Given the description of an element on the screen output the (x, y) to click on. 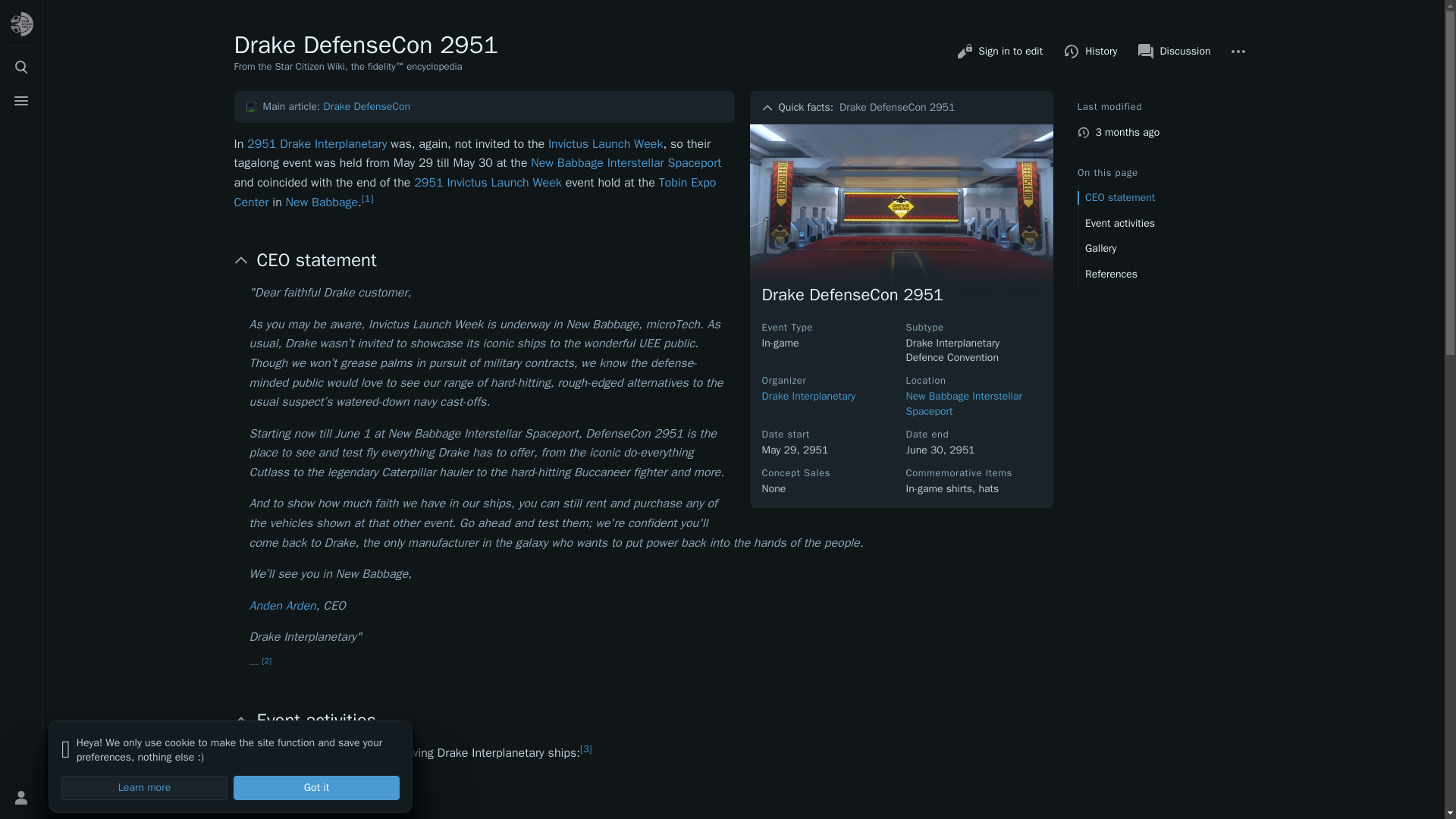
Visit the main page (20, 24)
Toggle personal menu (20, 797)
Toggle menu (20, 100)
